Given the description of an element on the screen output the (x, y) to click on. 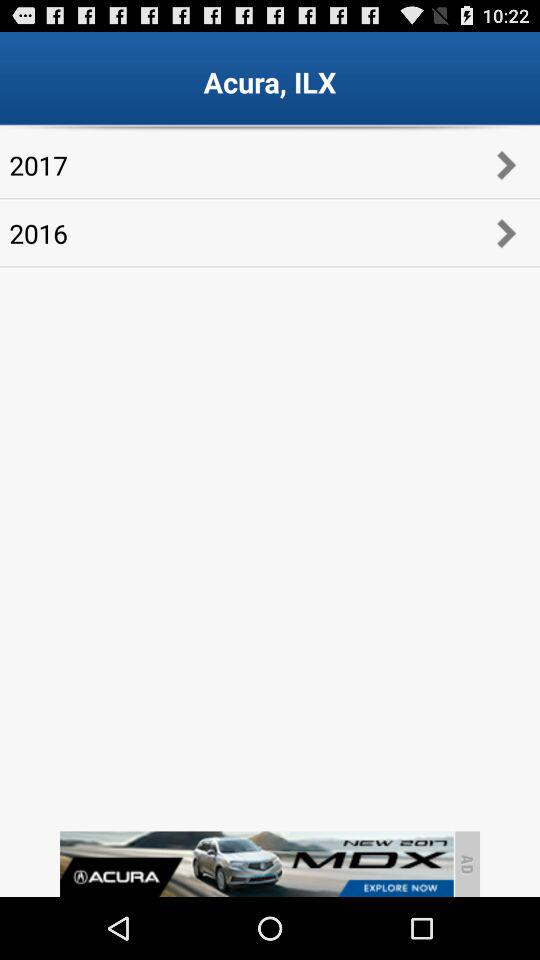
open advertisement (256, 864)
